Given the description of an element on the screen output the (x, y) to click on. 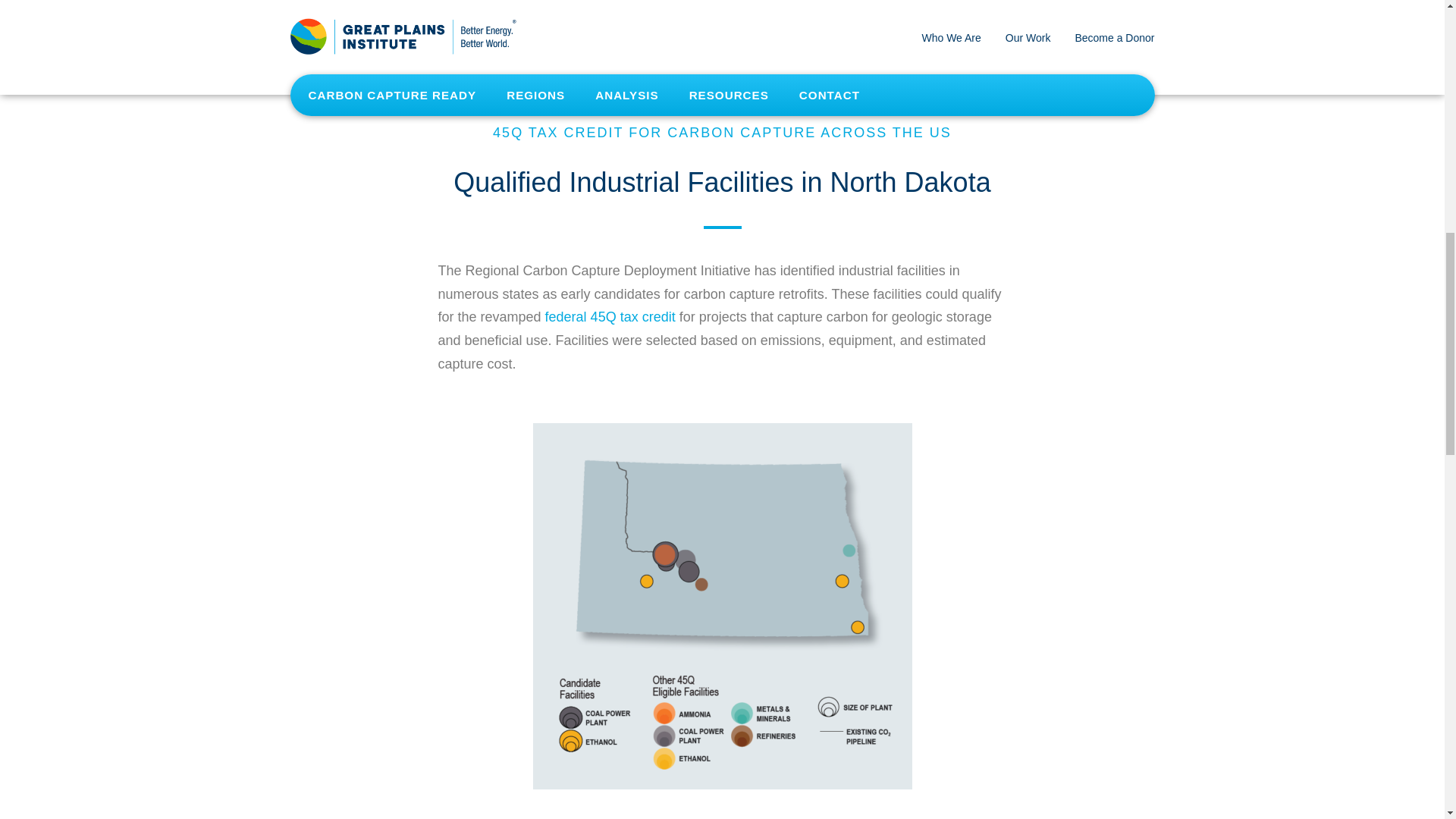
Download North Dakota Fact Sheet (571, 2)
federal 45Q tax credit (609, 316)
